Given the description of an element on the screen output the (x, y) to click on. 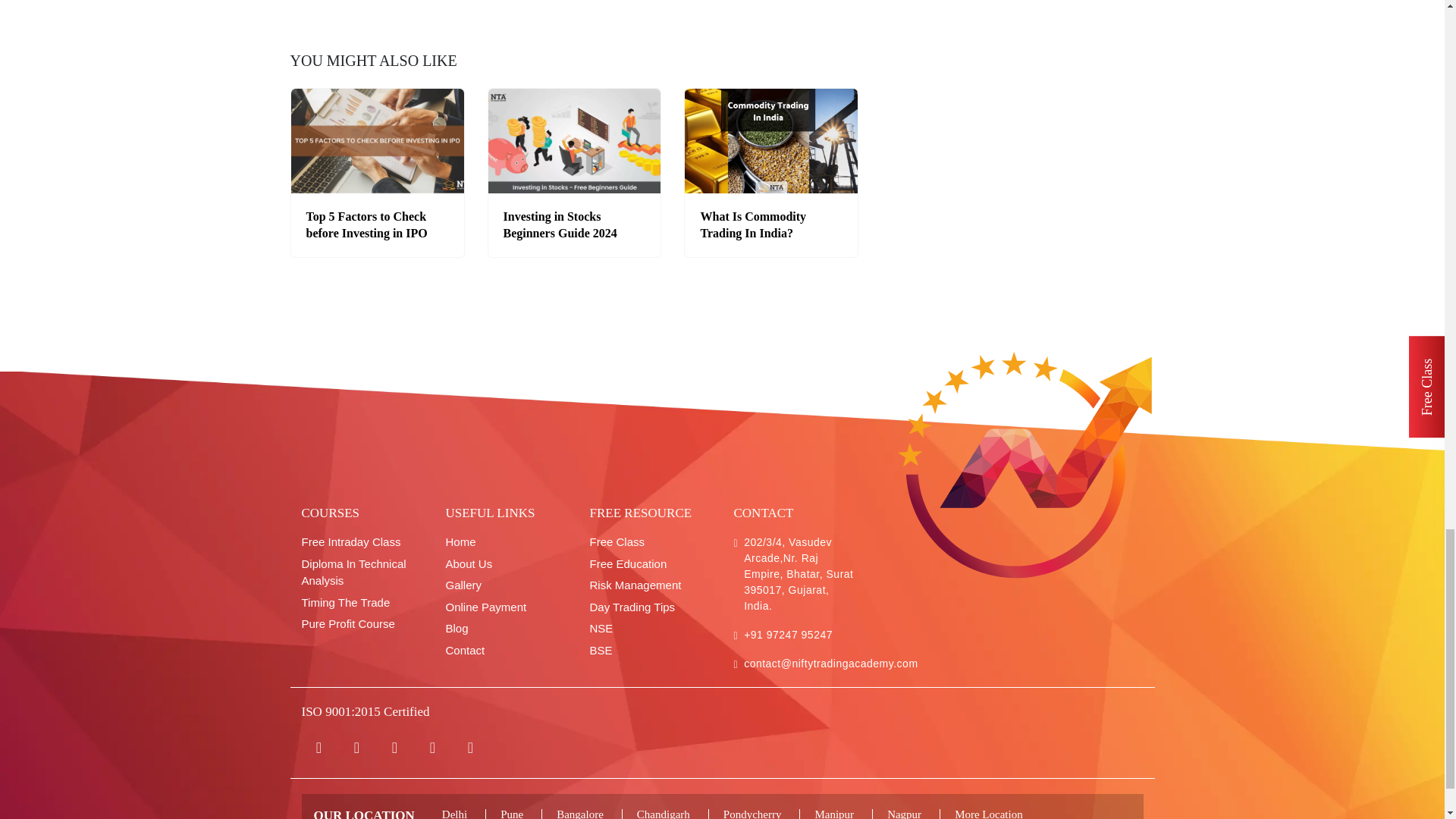
Free Intraday Class (362, 542)
Diploma In Technical Analysis (362, 572)
Pure Profit Course (362, 624)
Investing in Stocks Beginners Guide 2024 (560, 224)
What Is Commodity Trading In India? (753, 224)
Timing The Trade (362, 602)
Top 5 Factors to Check before Investing in IPO (366, 224)
